Given the description of an element on the screen output the (x, y) to click on. 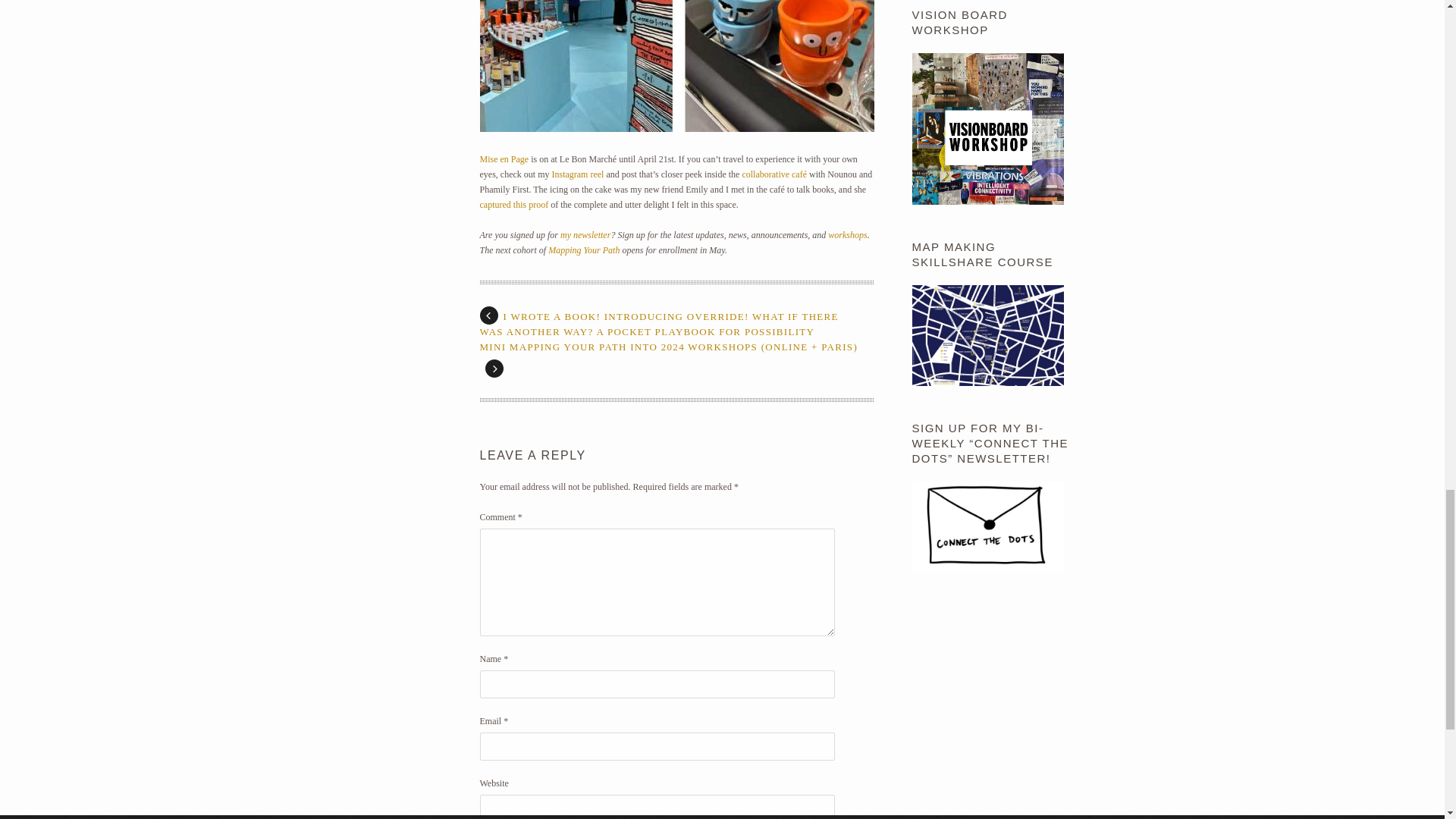
my newsletter (585, 235)
captured this proof (513, 204)
Mapping Your Path (584, 249)
Mise en Page (503, 158)
workshops (847, 235)
Vision Board Workshop (986, 201)
Map Making Skillshare course (986, 382)
Instagram reel (577, 173)
